Given the description of an element on the screen output the (x, y) to click on. 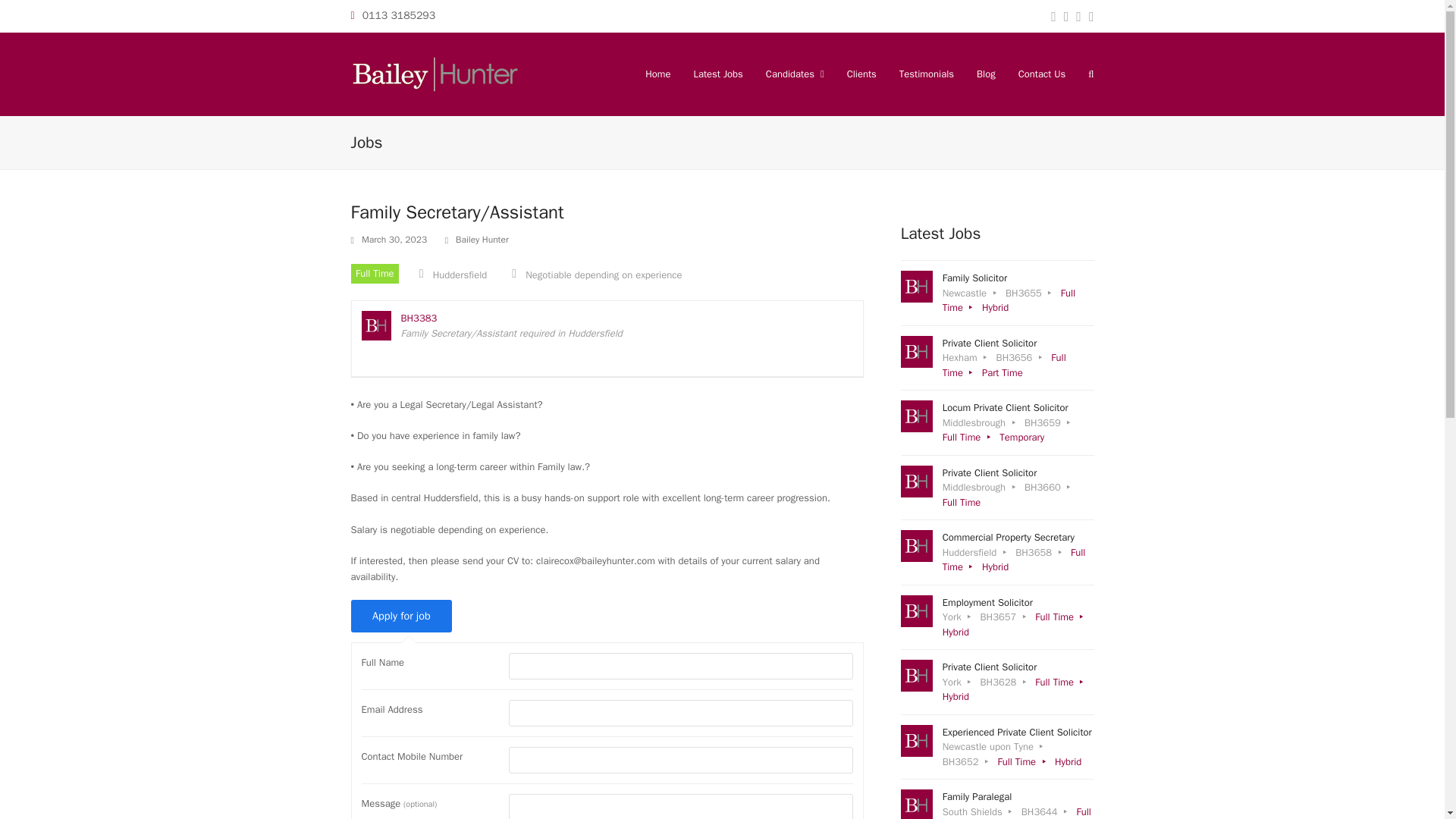
Candidates (997, 487)
Latest Jobs (997, 617)
